Given the description of an element on the screen output the (x, y) to click on. 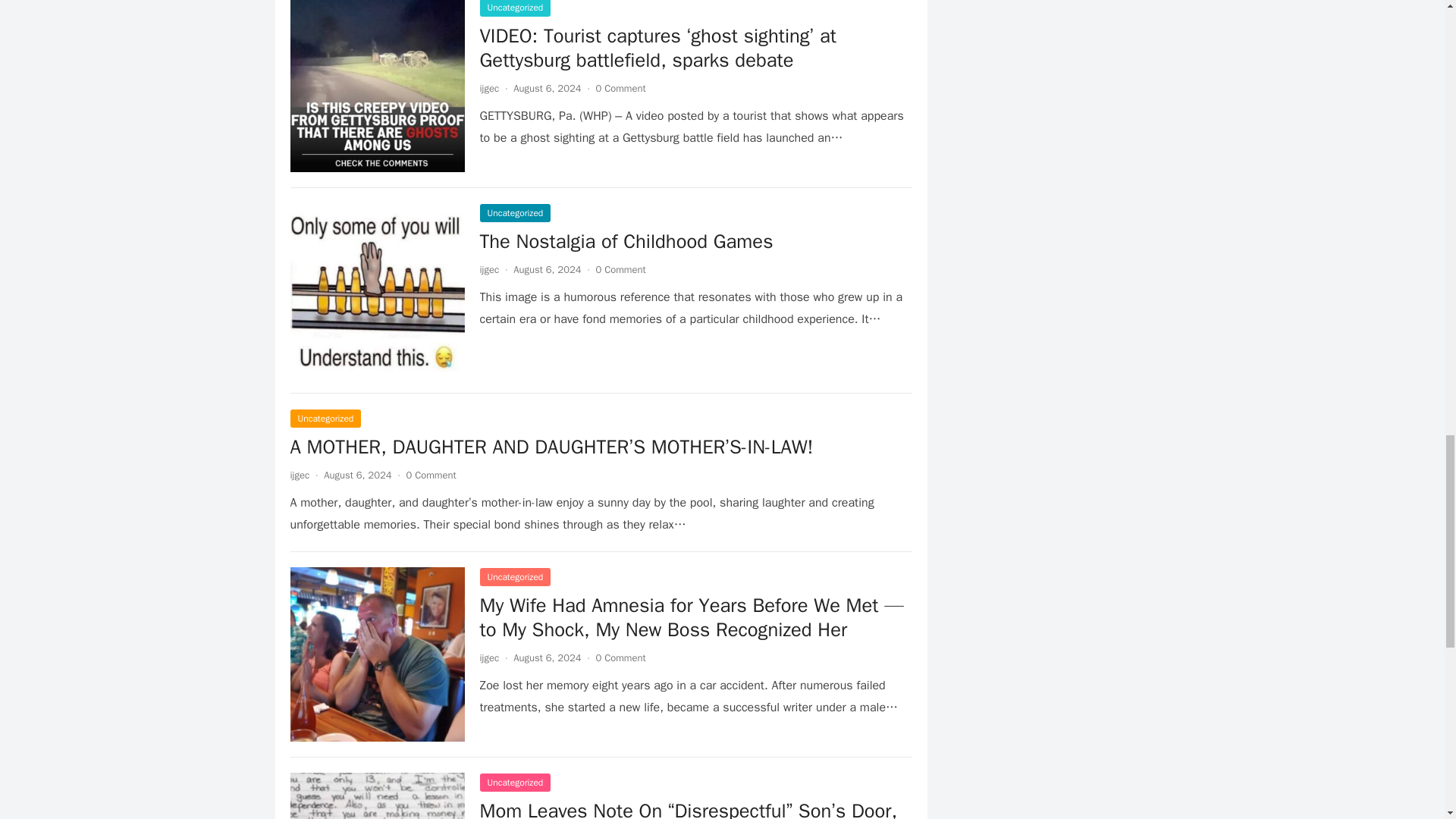
Uncategorized (514, 212)
Posts by ijgec (489, 657)
ijgec (489, 657)
0 Comment (620, 88)
Posts by ijgec (489, 88)
Uncategorized (325, 418)
Uncategorized (514, 577)
0 Comment (620, 269)
Posts by ijgec (298, 474)
Uncategorized (514, 782)
